Given the description of an element on the screen output the (x, y) to click on. 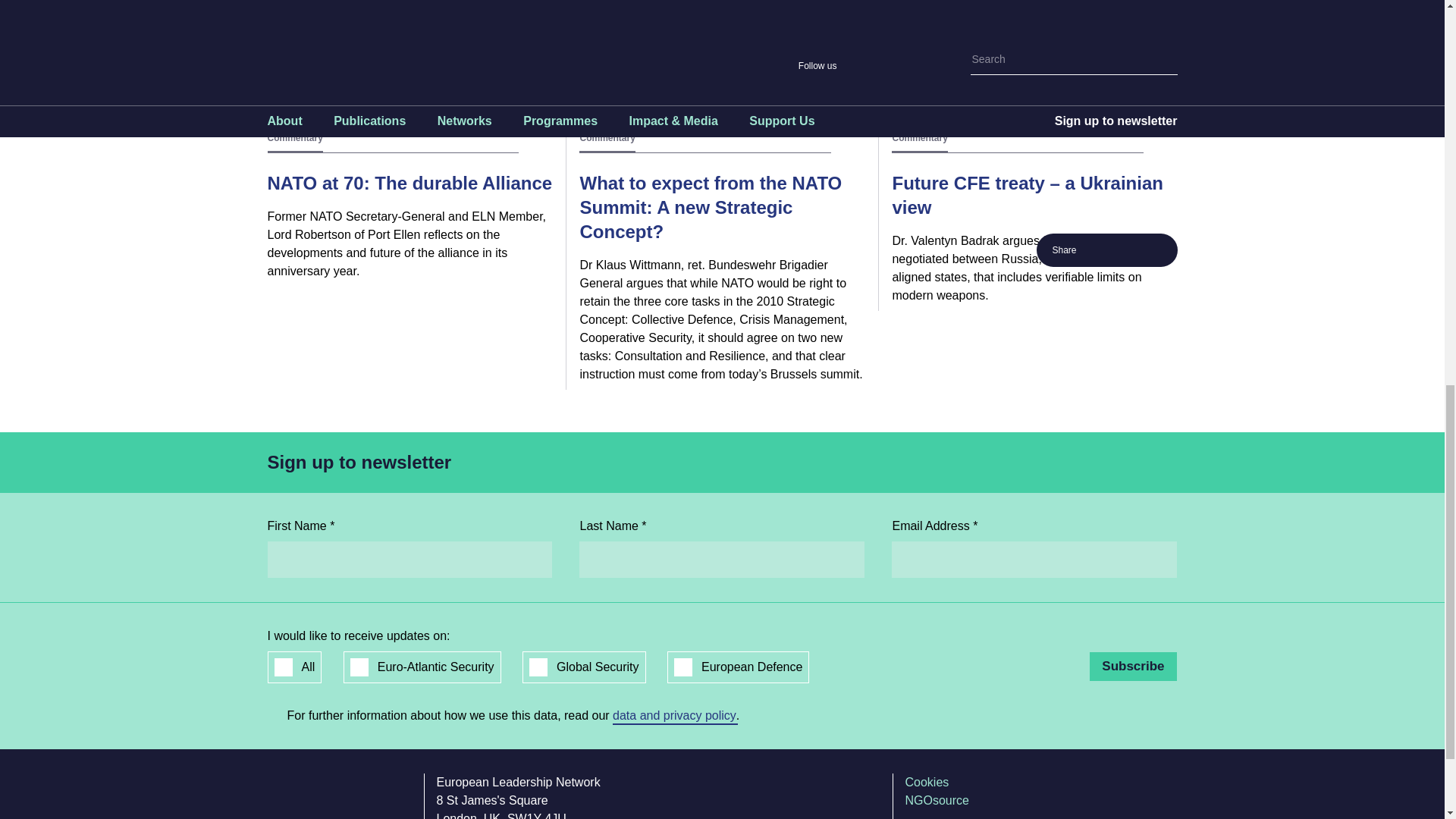
Subscribe (1132, 666)
